Given the description of an element on the screen output the (x, y) to click on. 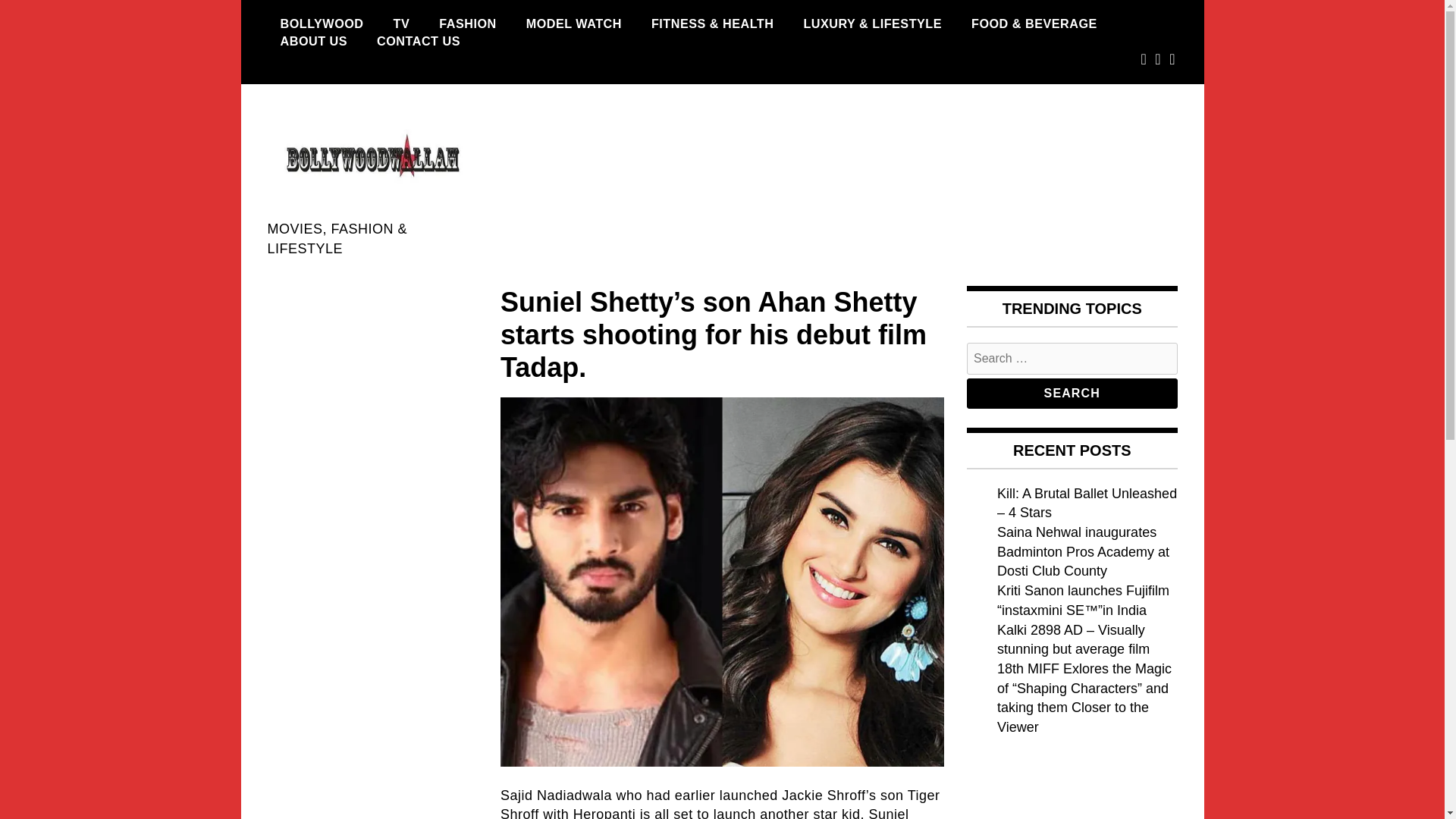
Search (1071, 393)
Search (1071, 393)
ABOUT US (312, 40)
FASHION (467, 23)
MODEL WATCH (574, 23)
TV (401, 23)
BOLLYWOOD (320, 23)
Search (1071, 393)
CONTACT US (418, 40)
